Given the description of an element on the screen output the (x, y) to click on. 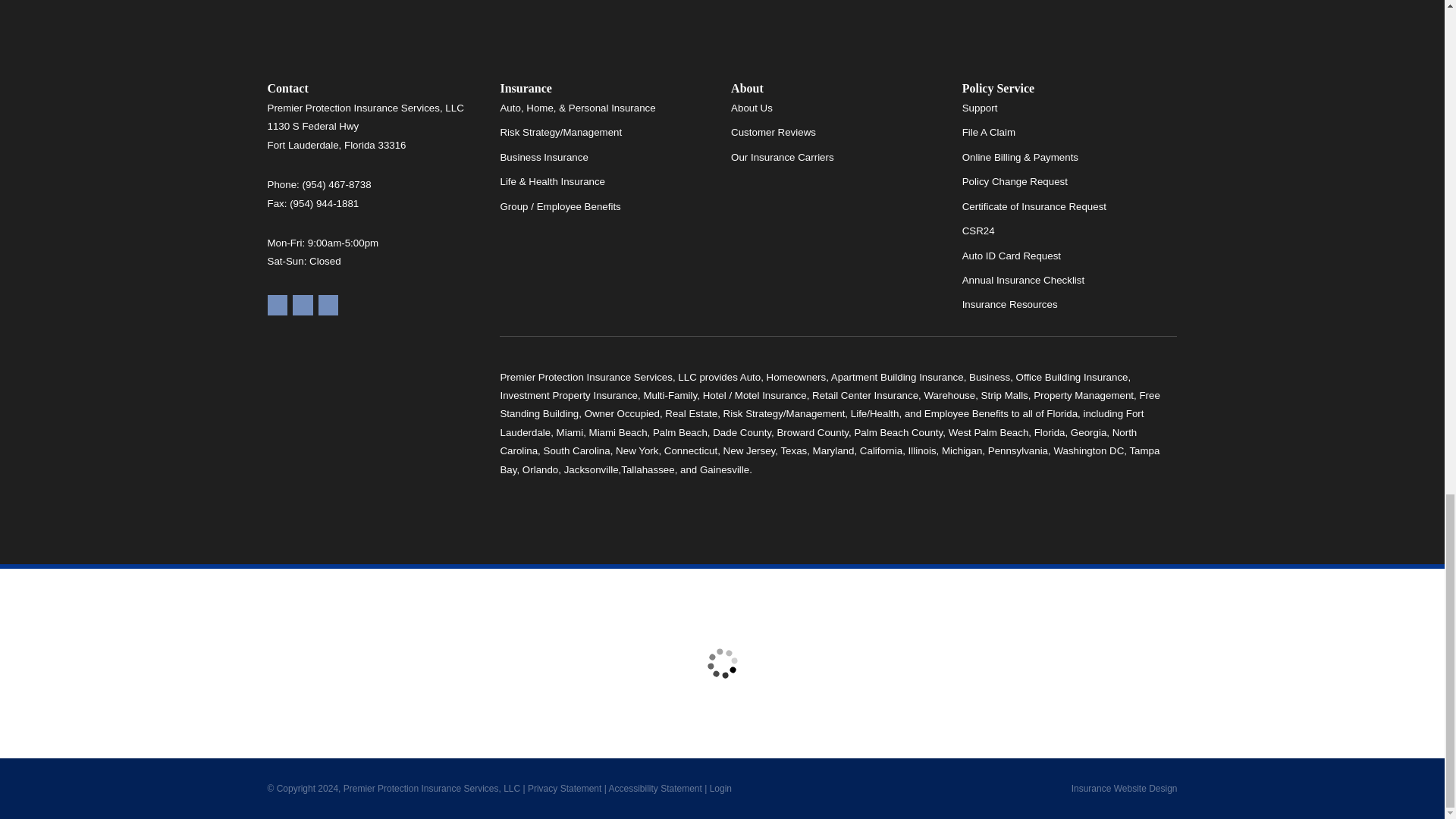
LinkedIn (328, 304)
Google Maps (276, 304)
Yelp (302, 304)
